Given the description of an element on the screen output the (x, y) to click on. 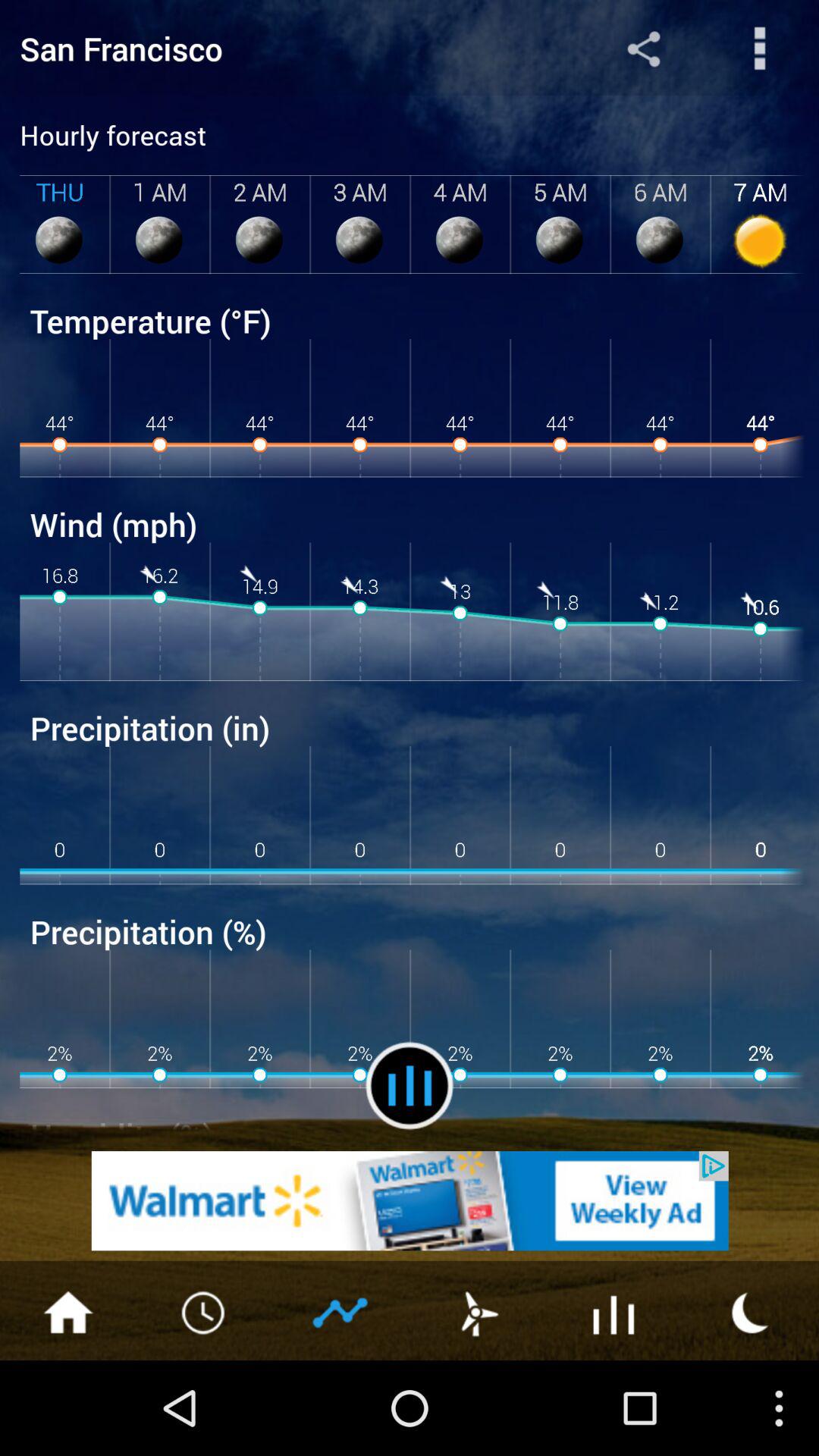
go home (68, 1311)
